Given the description of an element on the screen output the (x, y) to click on. 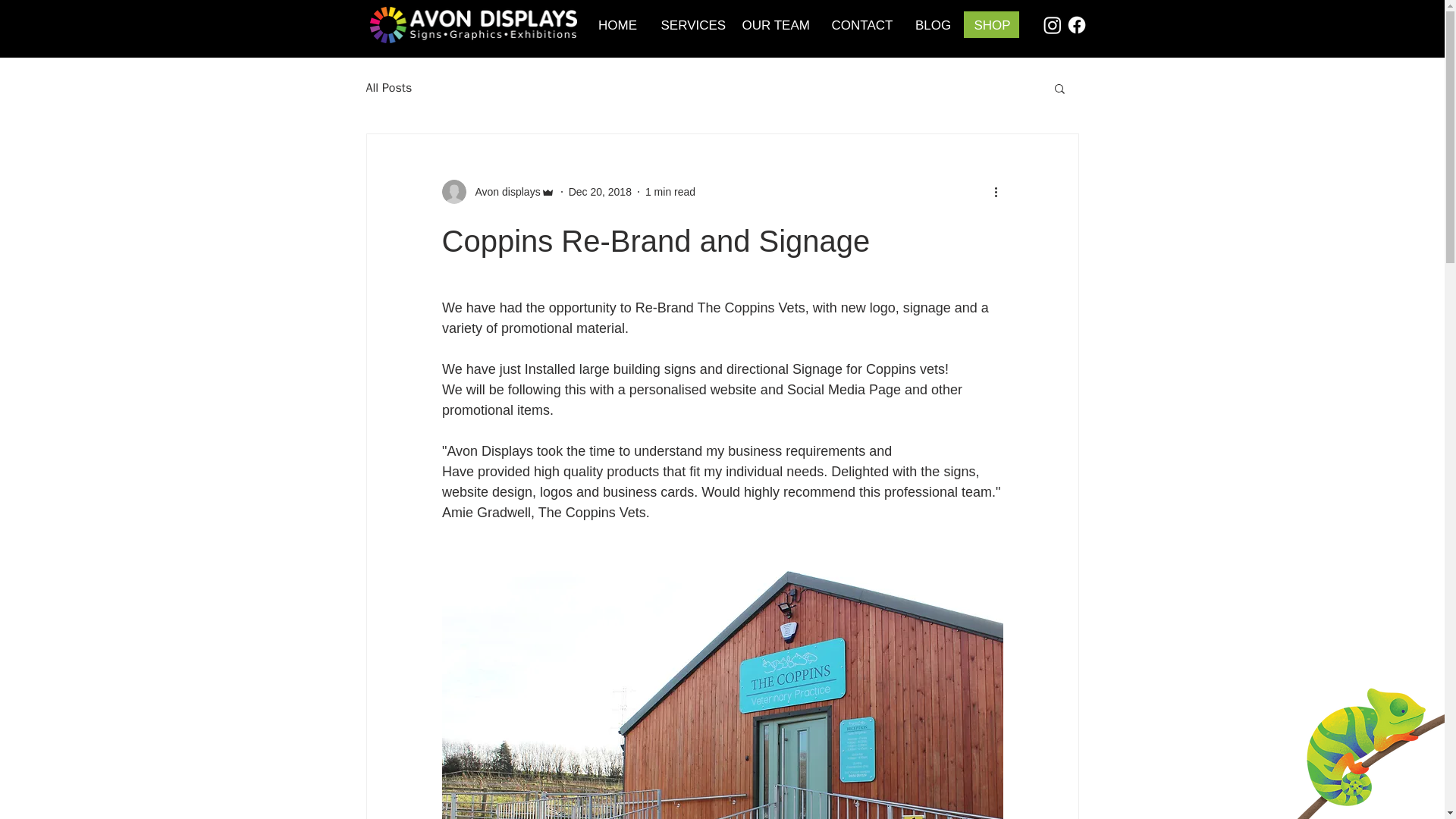
Avon displays (502, 191)
1 min read (670, 191)
SHOP (992, 25)
HOME (617, 25)
OUR TEAM (775, 25)
BLOG (933, 25)
Dec 20, 2018 (600, 191)
CONTACT (862, 25)
All Posts (388, 88)
SERVICES (689, 25)
